Given the description of an element on the screen output the (x, y) to click on. 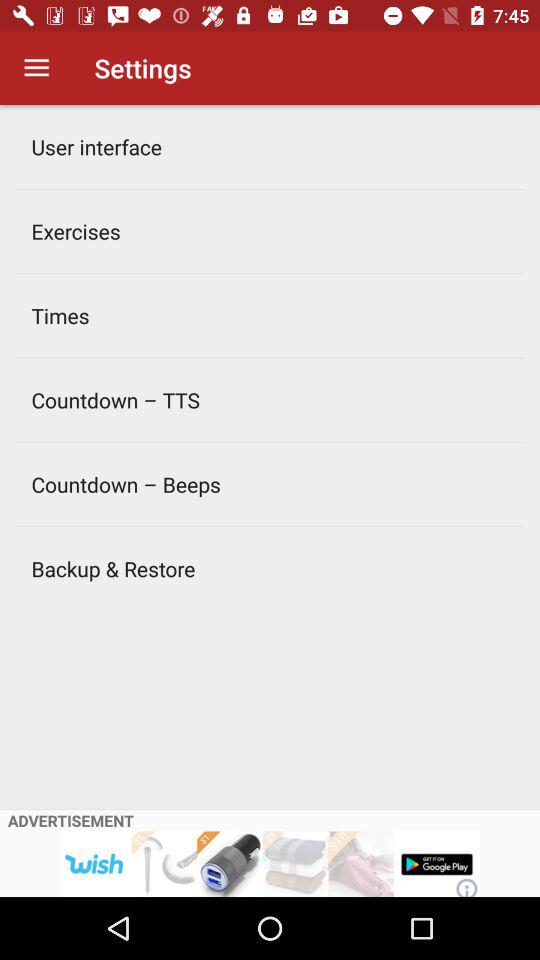
advertisement (270, 864)
